Given the description of an element on the screen output the (x, y) to click on. 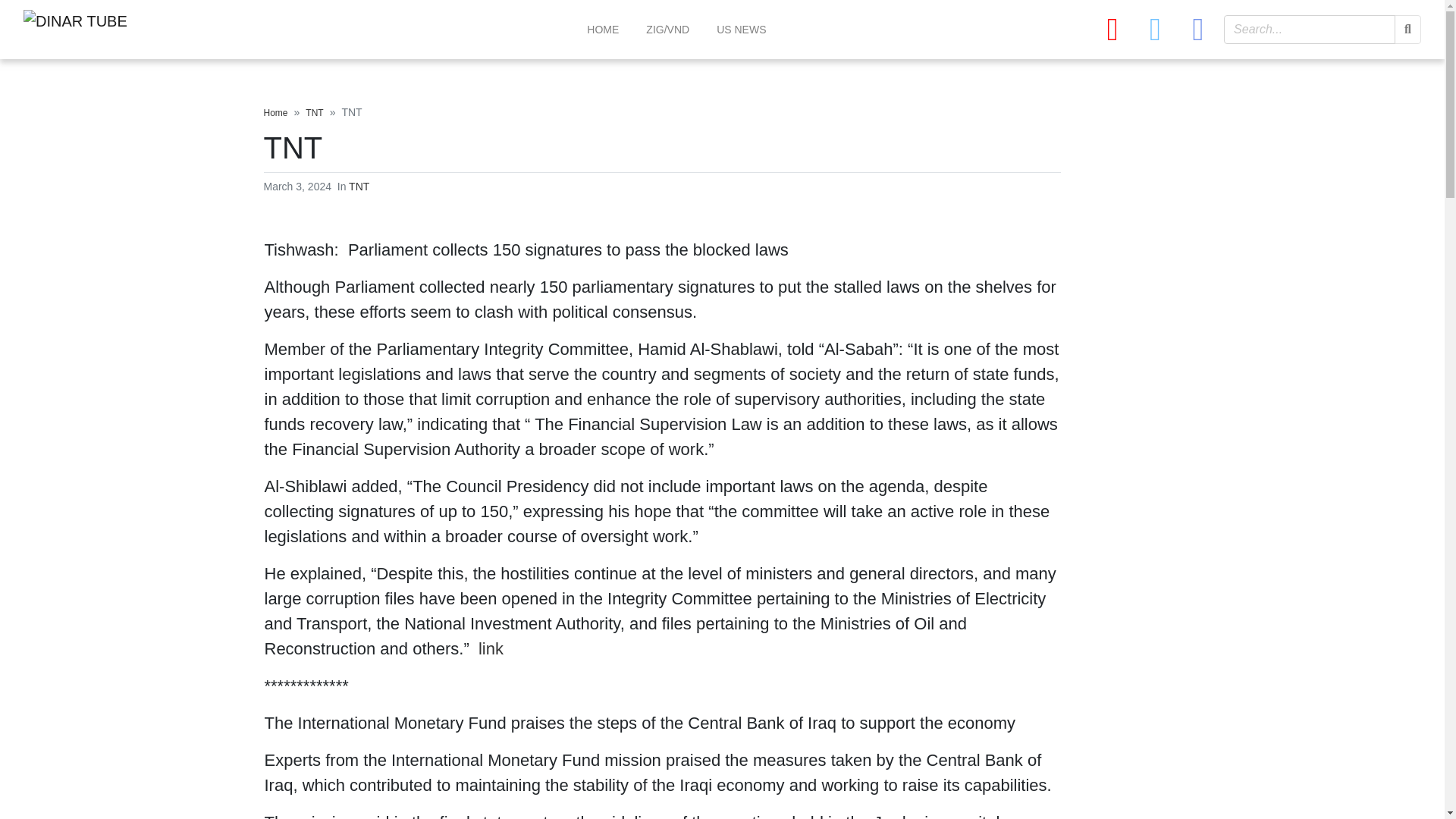
Home (275, 111)
TNT (359, 186)
Advertisement (121, 330)
link (491, 648)
US NEWS (740, 29)
TNT (314, 111)
Advertisement (1263, 209)
Dinar Tube (135, 29)
HOME (602, 29)
